Given the description of an element on the screen output the (x, y) to click on. 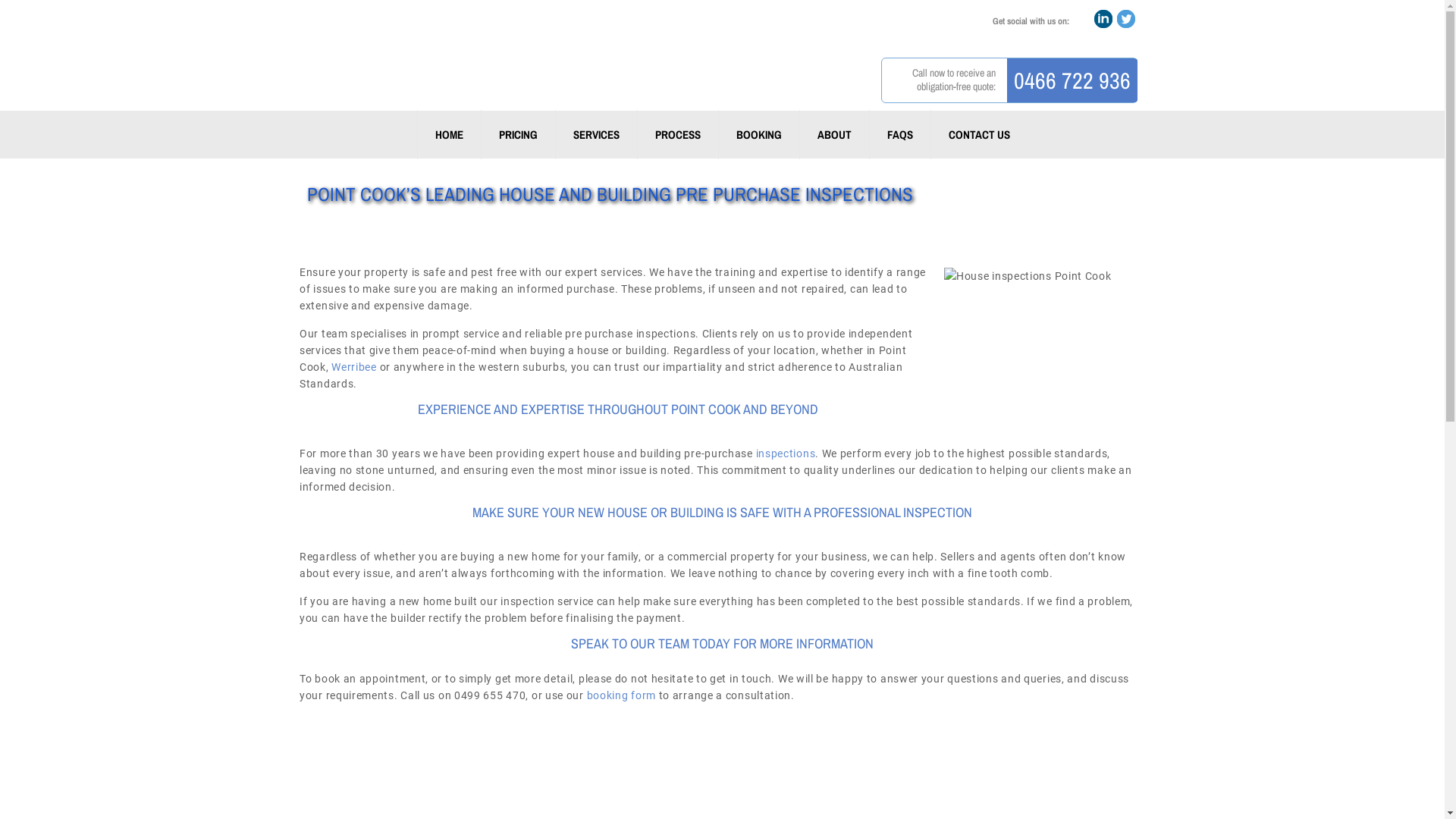
SERVICES Element type: text (596, 134)
inspections Element type: text (785, 453)
ABOUT Element type: text (834, 134)
Werribee Element type: text (353, 366)
CONTACT US Element type: text (978, 134)
PROCESS Element type: text (677, 134)
PRICING Element type: text (517, 134)
FAQS Element type: text (899, 134)
BOOKING Element type: text (758, 134)
HOME Element type: text (448, 134)
booking form Element type: text (620, 695)
